Given the description of an element on the screen output the (x, y) to click on. 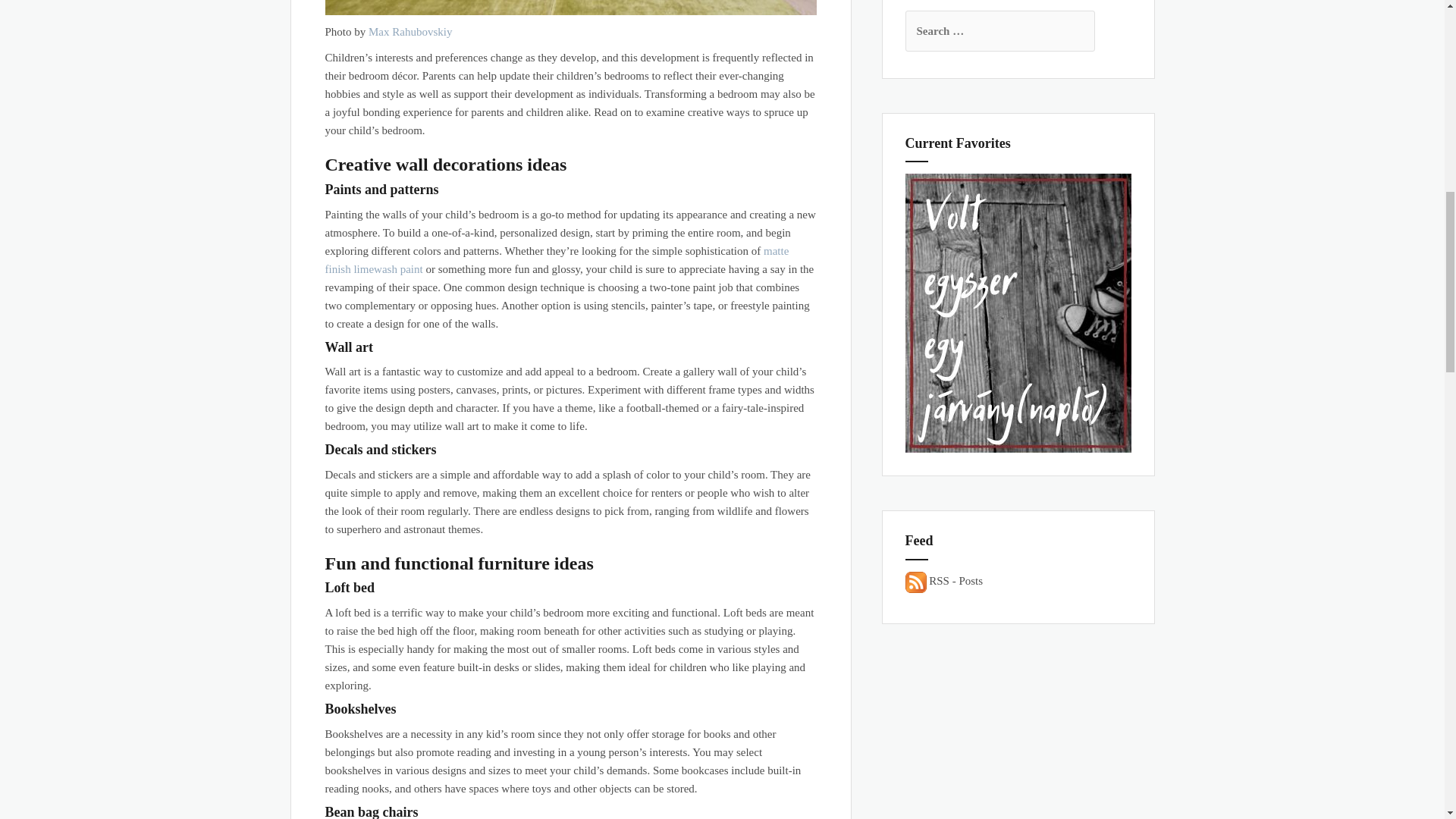
matte finish limewash paint (556, 259)
Subscribe to Posts (915, 581)
Subscribe to Posts (955, 581)
Max Rahubovskiy (409, 31)
